Given the description of an element on the screen output the (x, y) to click on. 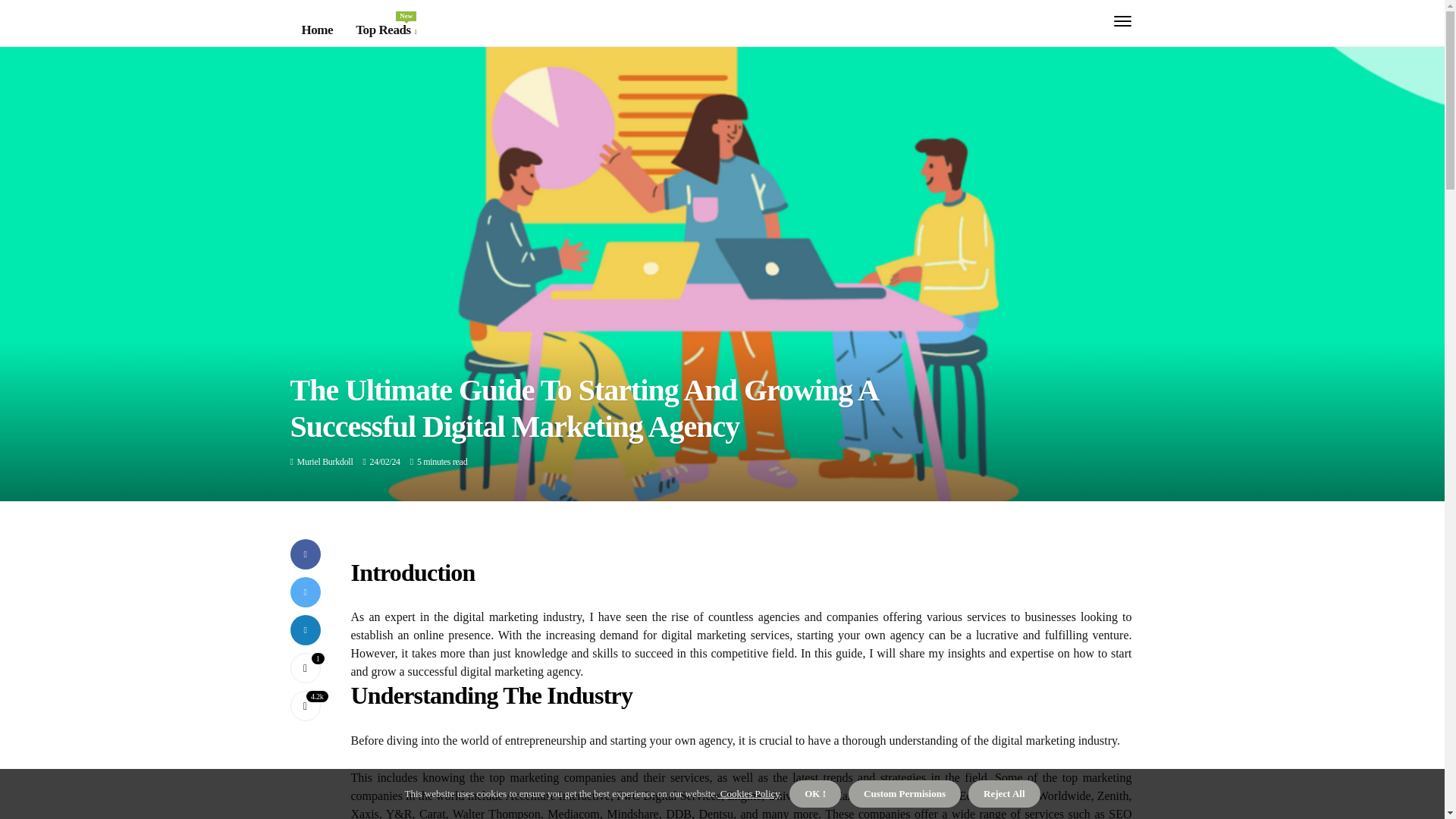
Posts by Muriel Burkdoll (385, 30)
Like (325, 461)
1 (304, 667)
Muriel Burkdoll (304, 667)
